Given the description of an element on the screen output the (x, y) to click on. 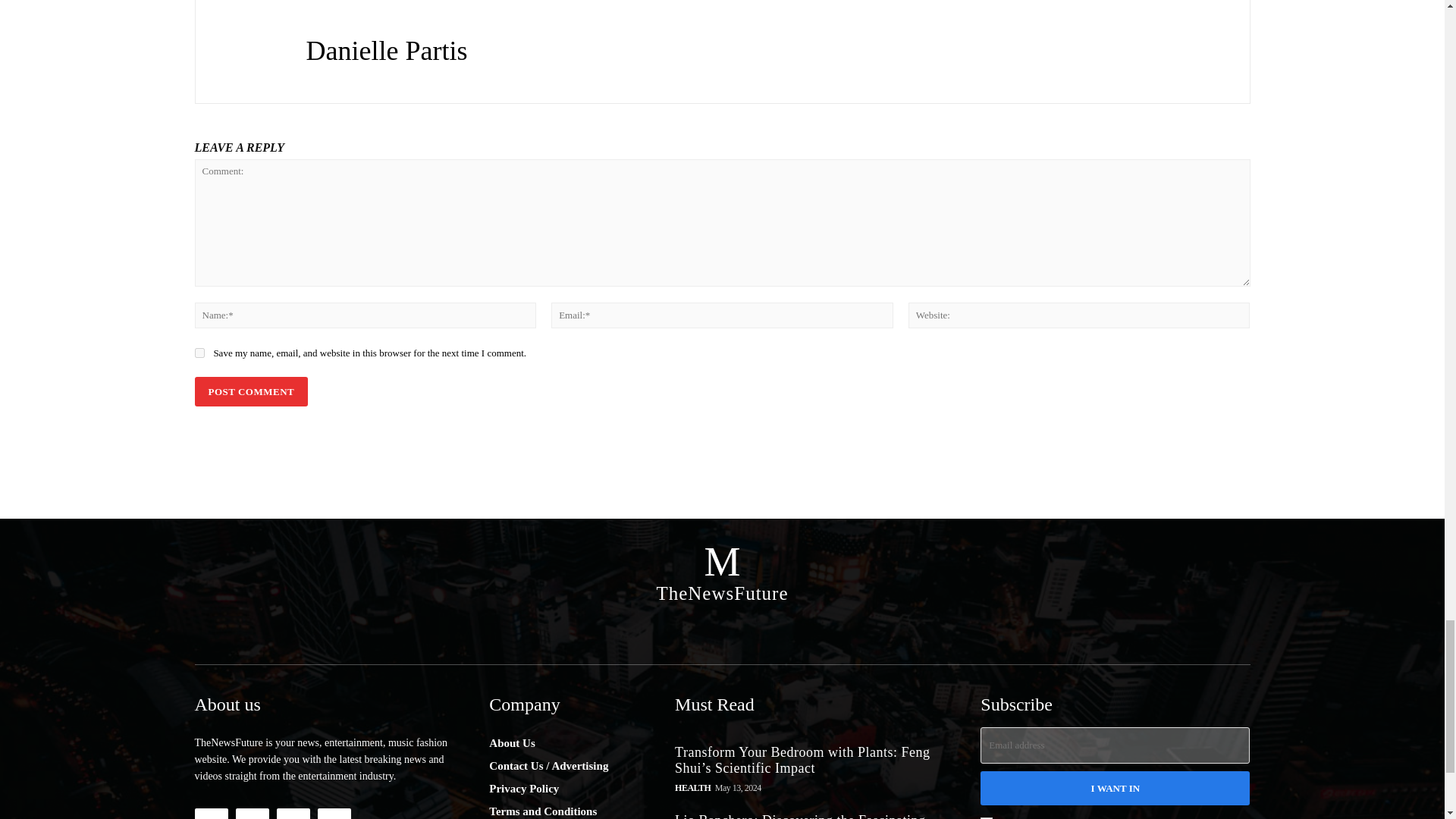
yes (198, 352)
Post Comment (250, 391)
